Given the description of an element on the screen output the (x, y) to click on. 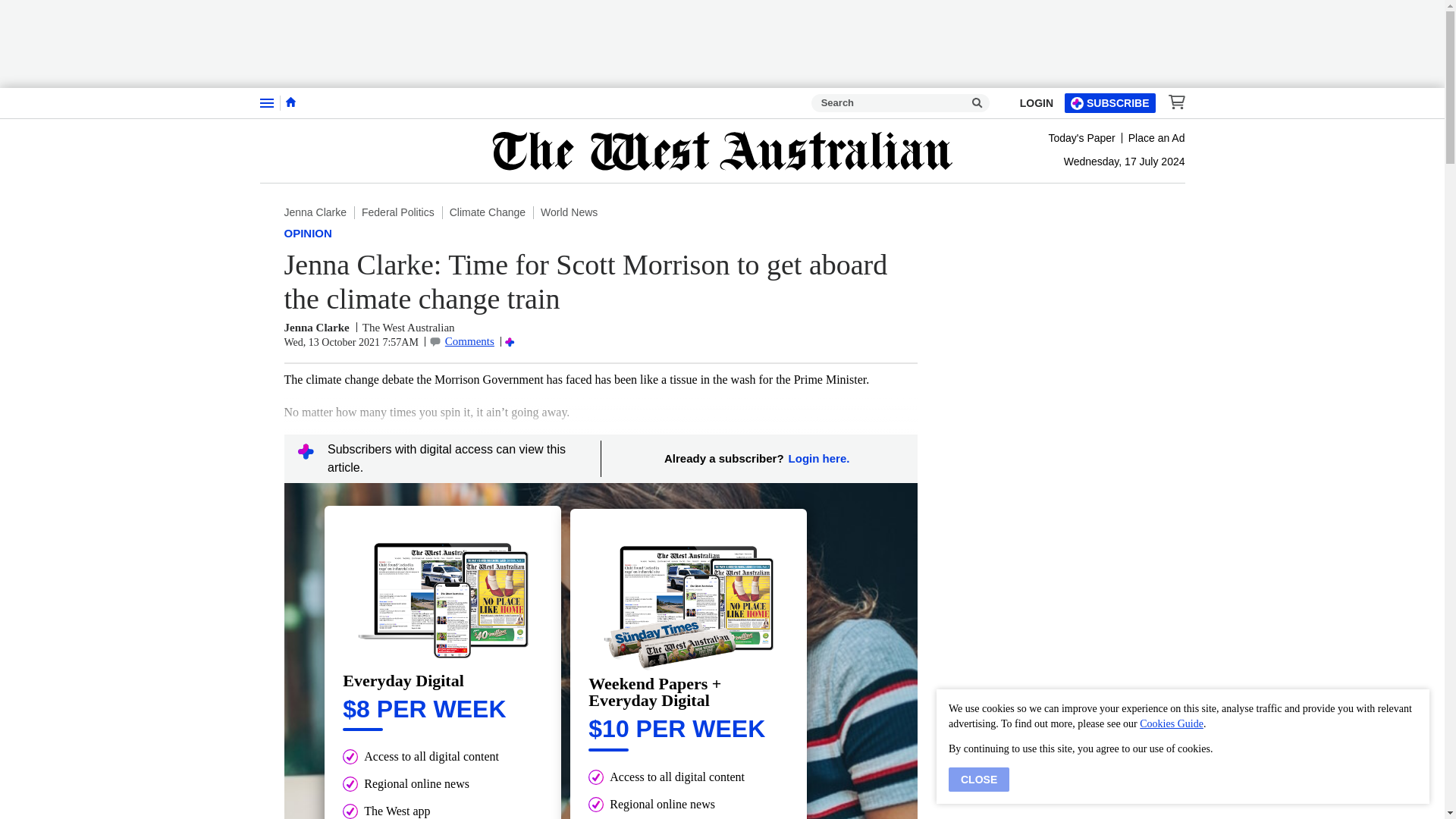
Empty Cart Icon (1172, 102)
Please enter a search term. (977, 102)
Home (290, 102)
